Given the description of an element on the screen output the (x, y) to click on. 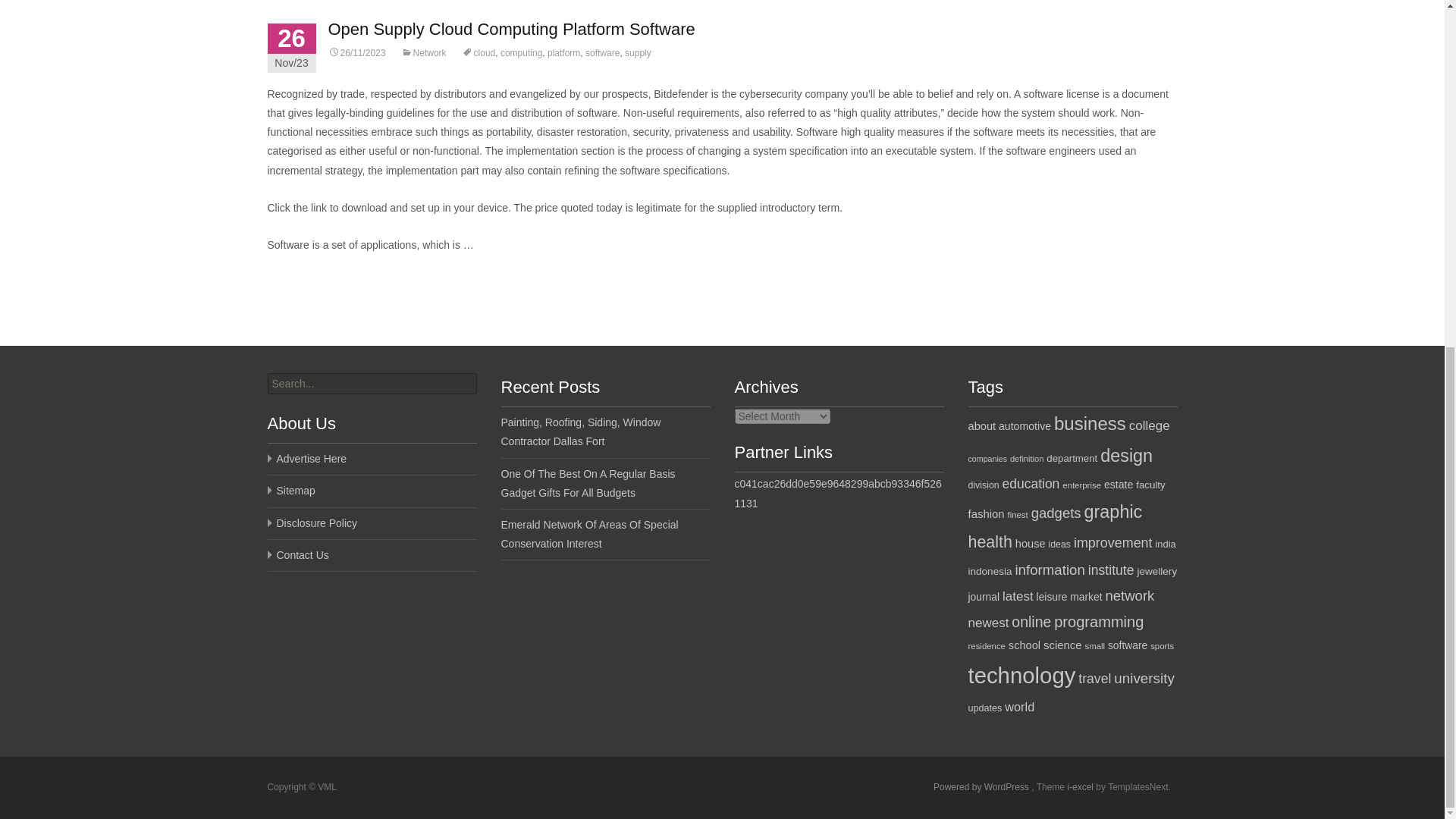
software (602, 52)
computing (520, 52)
supply (637, 52)
Multipurpose Business WooCommerce Theme (1081, 787)
platform (563, 52)
automotive (1024, 426)
department (1071, 458)
Painting, Roofing, Siding, Window Contractor Dallas Fort (580, 431)
about (981, 426)
companies (987, 458)
business (1089, 423)
college (1149, 425)
Open Supply Cloud Computing Platform Software (510, 28)
Search for: (371, 383)
